Given the description of an element on the screen output the (x, y) to click on. 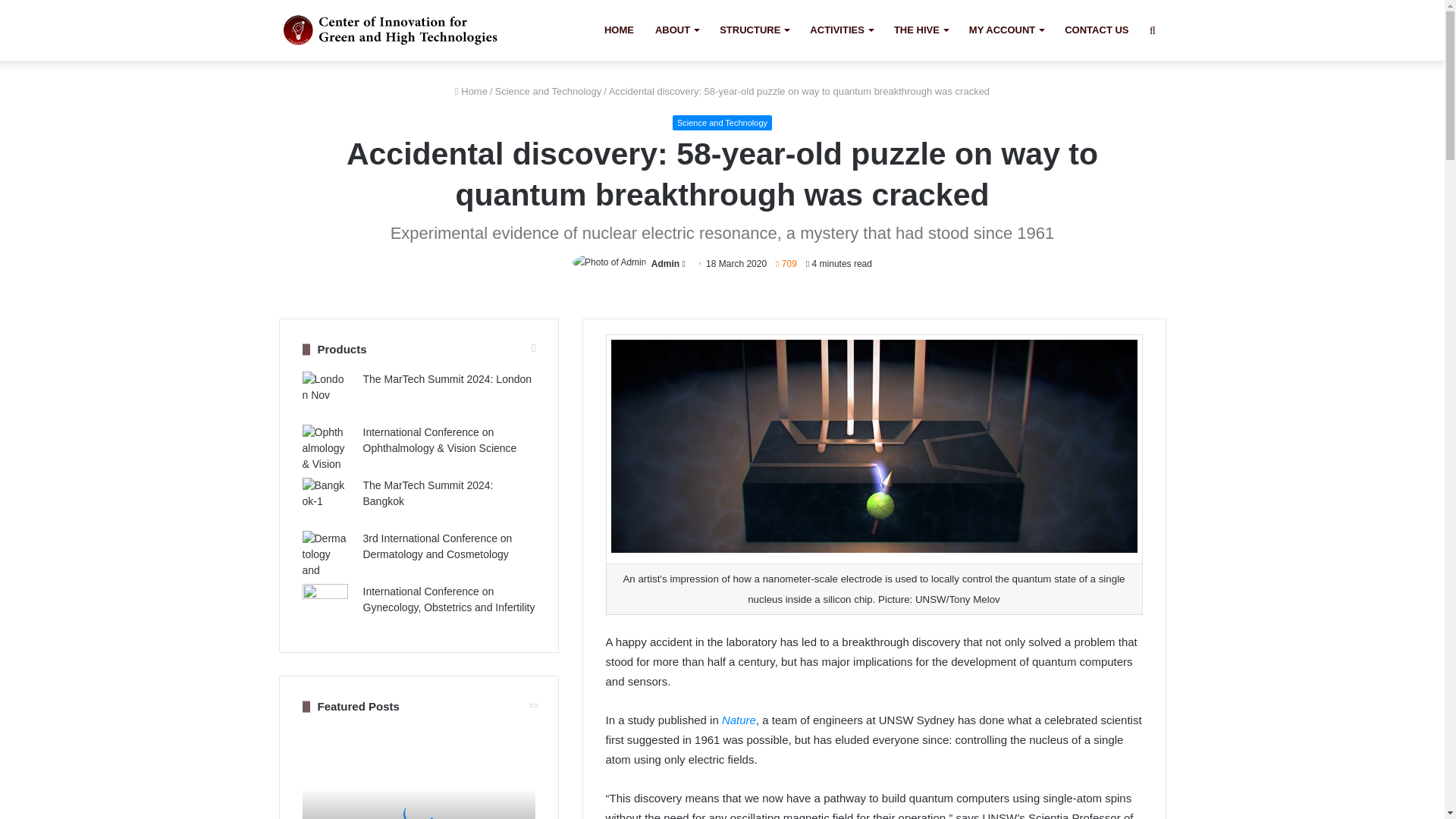
Cightech (395, 30)
Science and Technology (721, 122)
THE HIVE (920, 30)
Admin (664, 263)
CONTACT US (1096, 30)
ABOUT (677, 30)
MY ACCOUNT (1006, 30)
Slide1 (418, 774)
ACTIVITIES (841, 30)
Admin (664, 263)
Home (470, 91)
STRUCTURE (754, 30)
Science and Technology (548, 91)
